Given the description of an element on the screen output the (x, y) to click on. 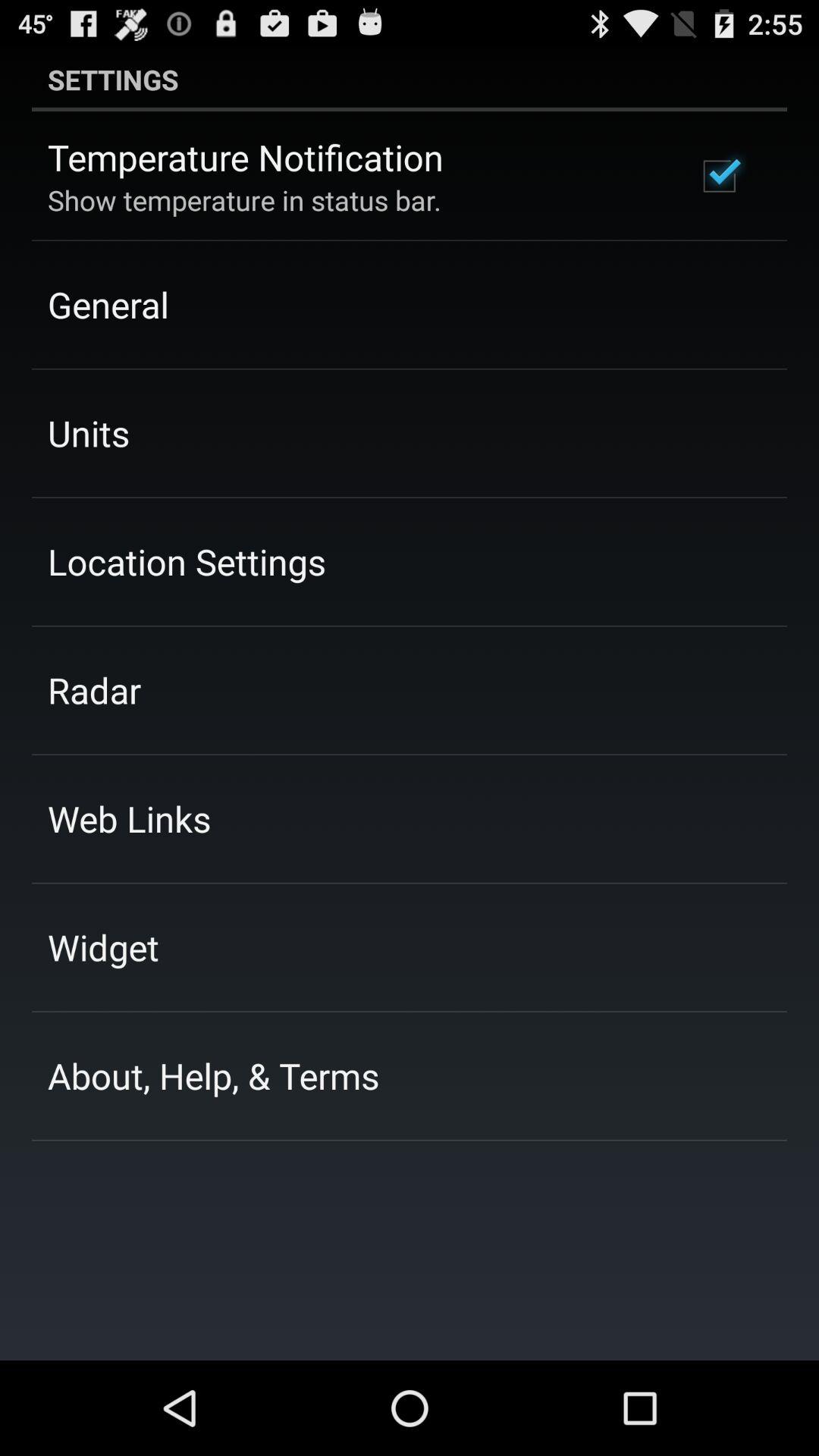
press the item to the right of temperature notification (719, 176)
